Given the description of an element on the screen output the (x, y) to click on. 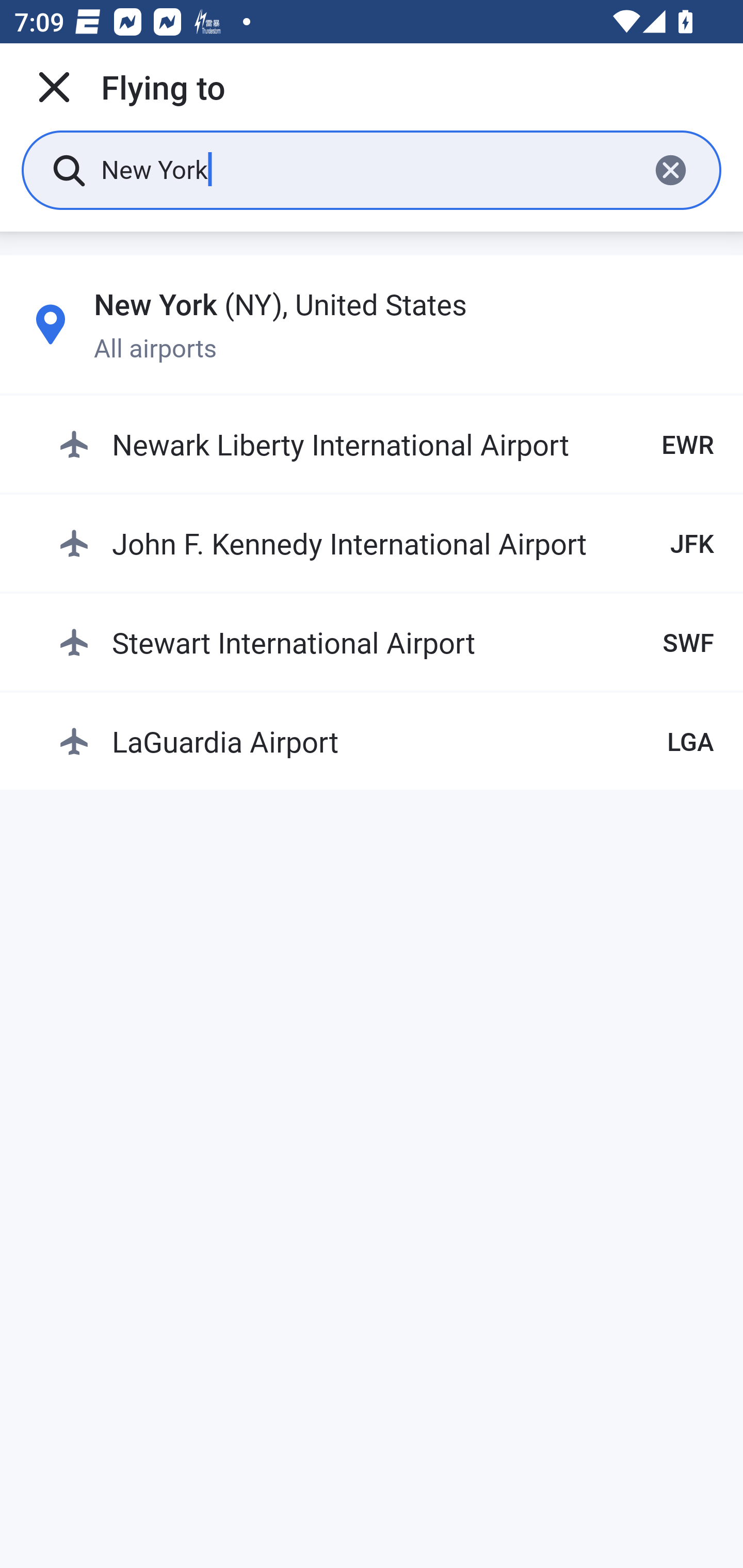
New York (367, 169)
New York (NY), United States All airports (371, 324)
Newark Liberty International Airport EWR (385, 444)
John F. Kennedy International Airport JFK (385, 543)
Stewart International Airport SWF (385, 641)
LaGuardia Airport LGA (385, 740)
